Given the description of an element on the screen output the (x, y) to click on. 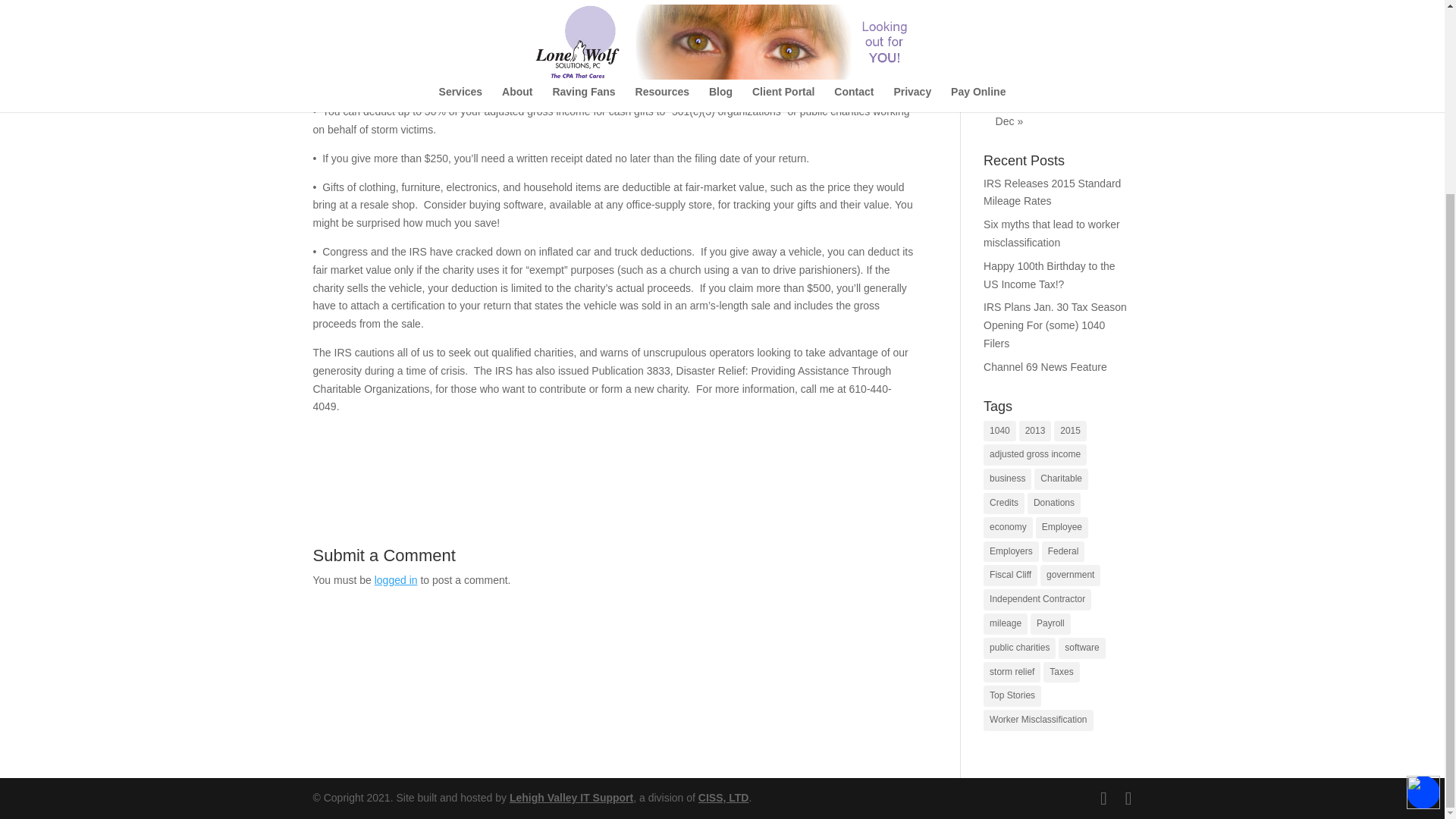
Six myths that lead to worker misclassification (1051, 233)
1040 (1000, 431)
2015 (1070, 431)
business (1007, 478)
Accessibility Menu (1422, 548)
adjusted gross income (1035, 455)
Charitable (1060, 478)
1 (1057, 11)
2013 (1035, 431)
Donations (1053, 503)
Channel 69 News Feature (1045, 367)
logged in (395, 580)
Credits (1004, 503)
Happy 100th Birthday to the US Income Tax!? (1049, 275)
IRS Releases 2015 Standard Mileage Rates (1052, 192)
